Given the description of an element on the screen output the (x, y) to click on. 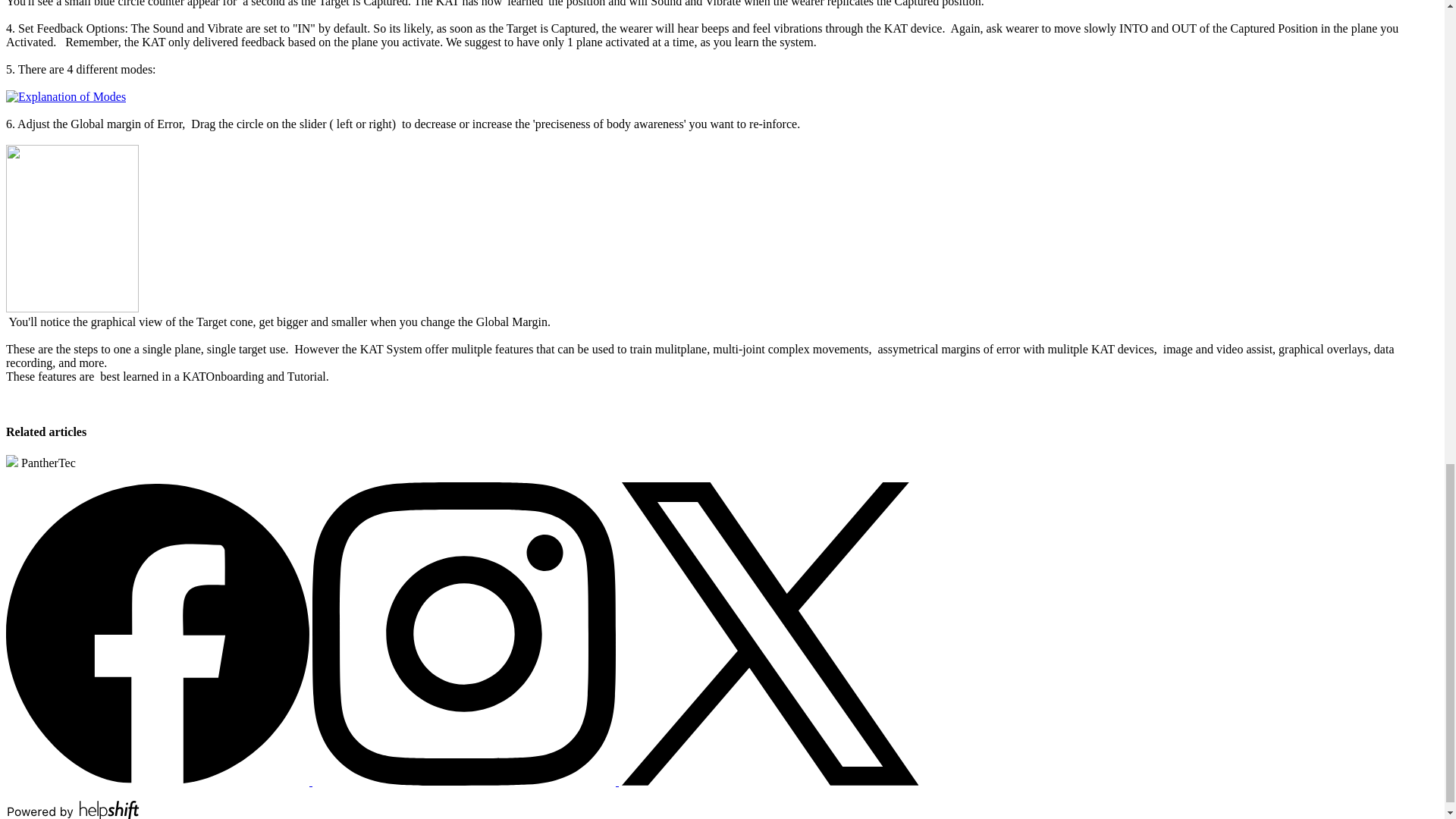
Logo Facebook (156, 633)
Logo Instagram (465, 780)
Logo Instagram (464, 633)
Logo Facebook (159, 780)
PantherTec (40, 462)
